Given the description of an element on the screen output the (x, y) to click on. 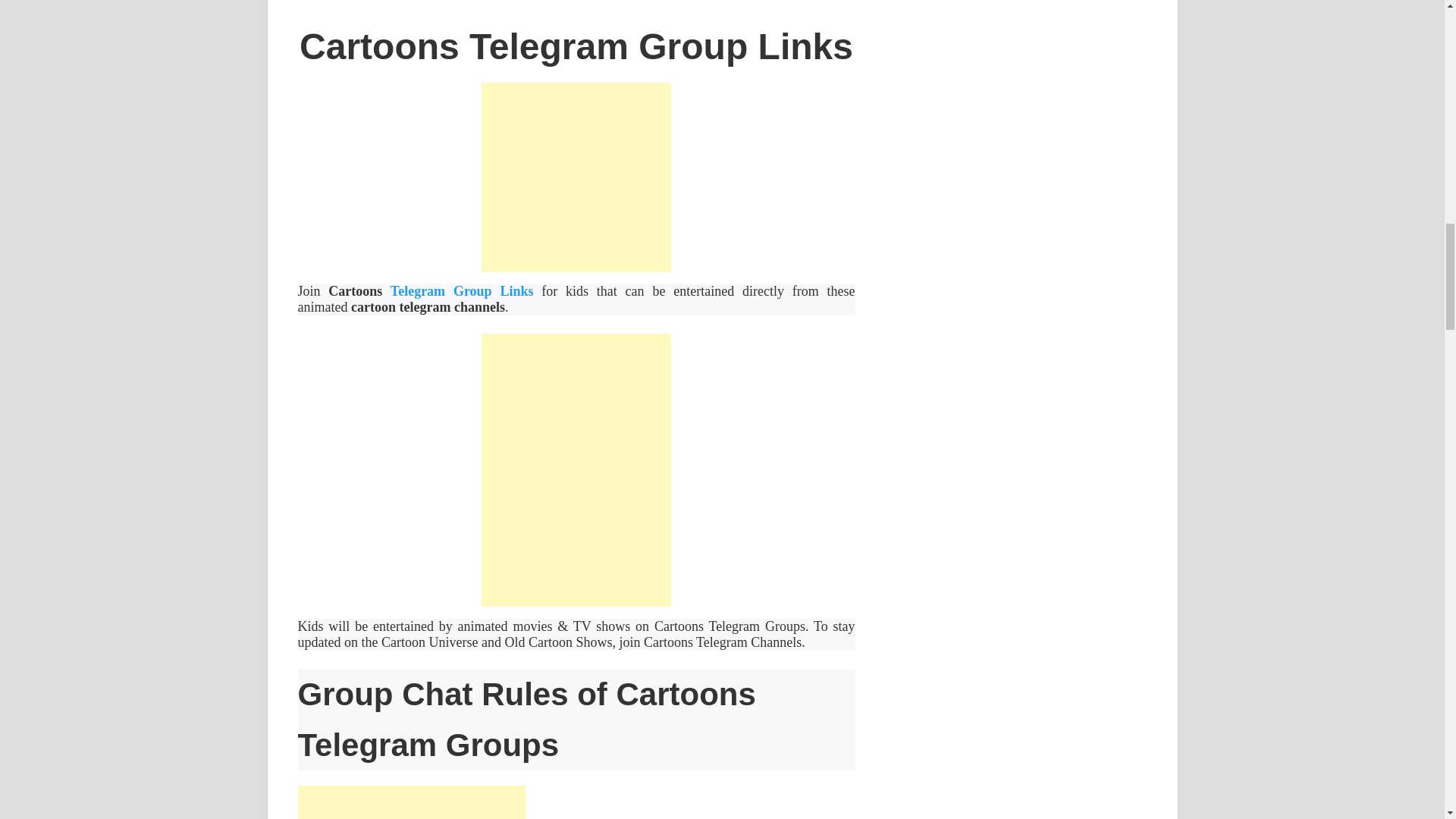
Advertisement (576, 176)
Advertisement (410, 802)
